Given the description of an element on the screen output the (x, y) to click on. 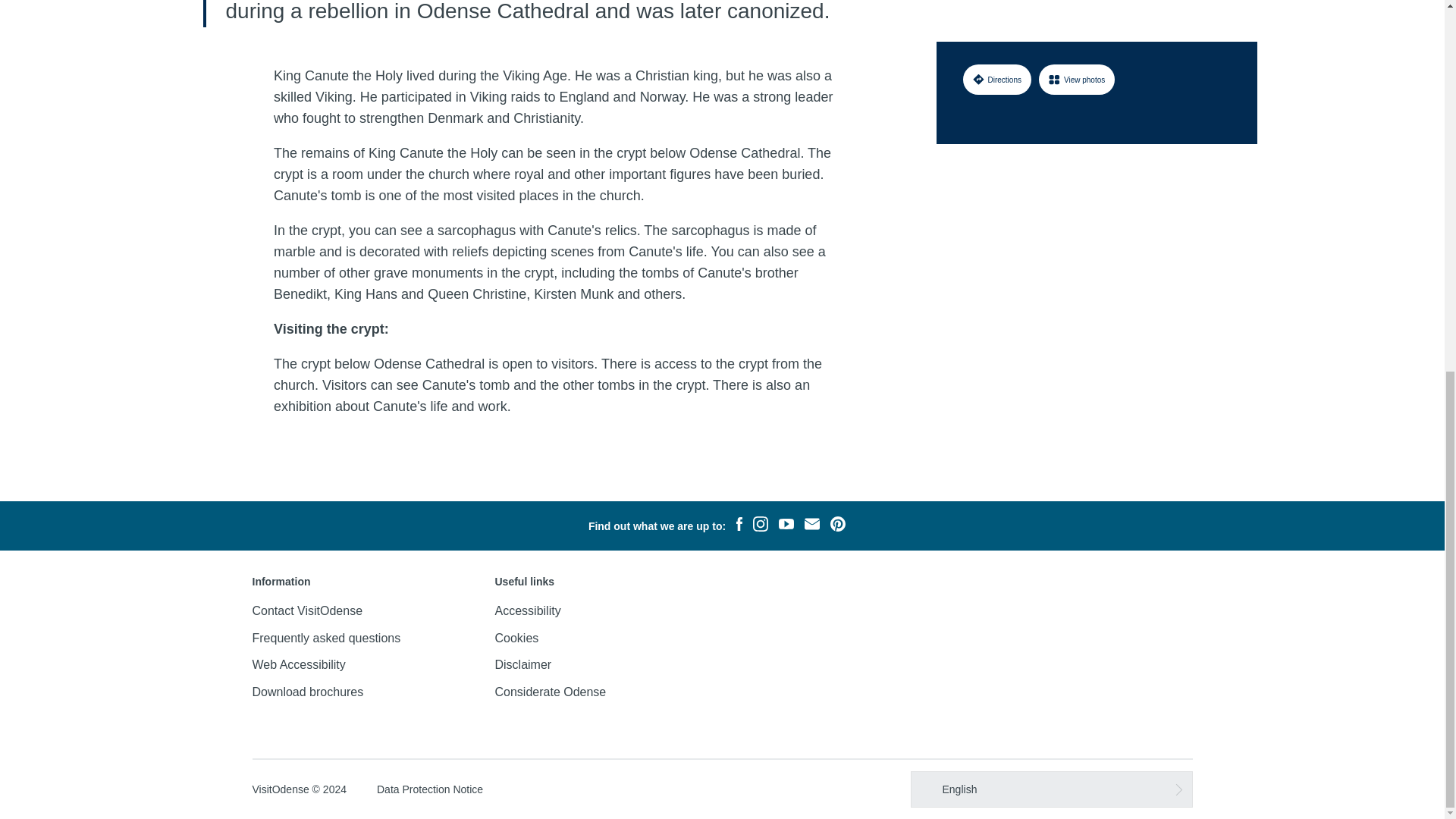
Considerate Odense (550, 691)
Web Accessibility (298, 664)
Contact VisitOdense (306, 610)
Data Protection Notice (430, 789)
Cookies (516, 637)
pinterest (837, 526)
Considerate Odense (550, 691)
Download brochures (306, 691)
Accessibility (527, 610)
Contact VisitOdense (306, 610)
Frequently asked questions (325, 637)
Accessibility (527, 610)
instagram (760, 526)
Frequently asked questions (325, 637)
Data Protection Notice (430, 789)
